Given the description of an element on the screen output the (x, y) to click on. 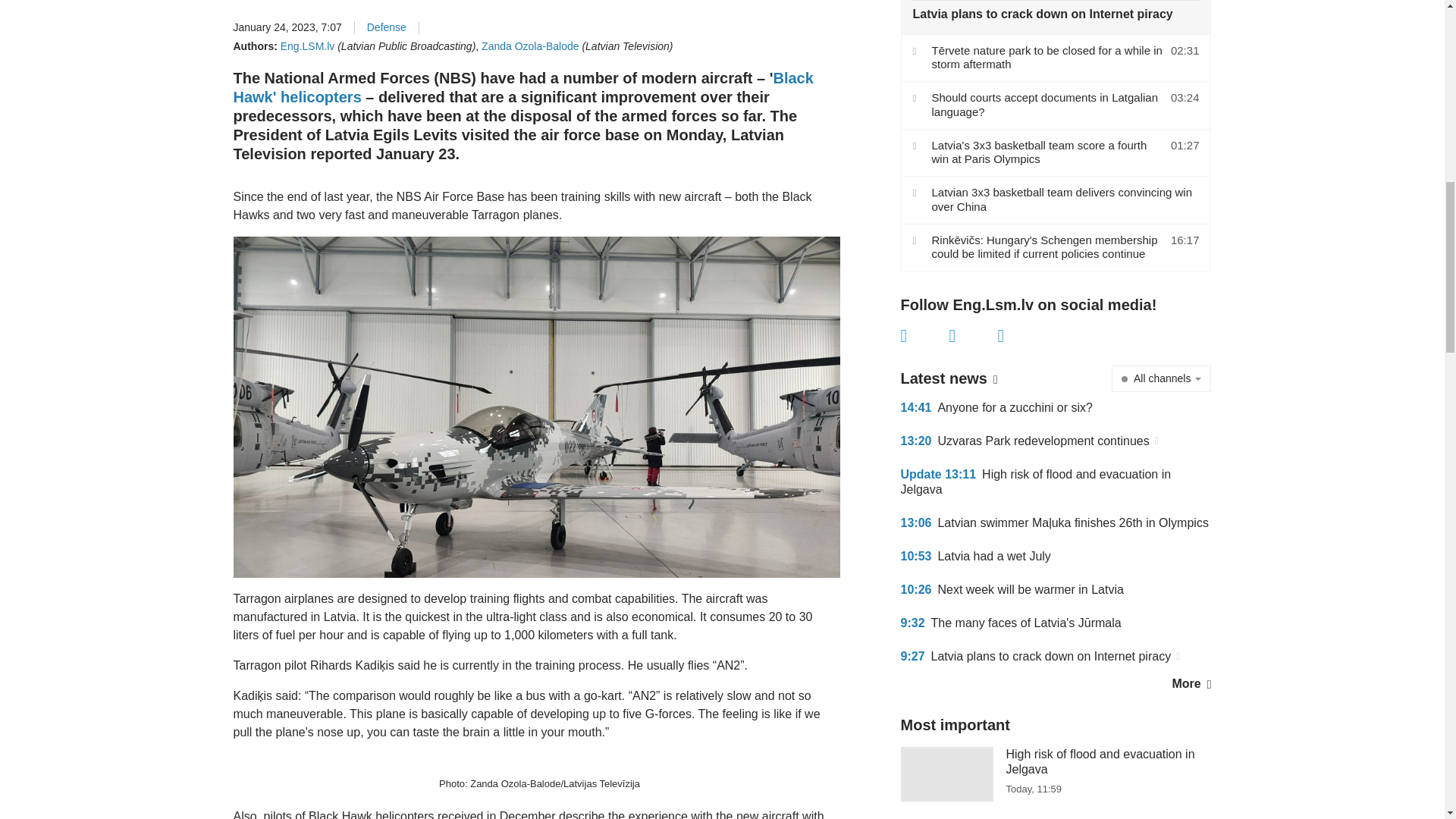
Linkedin (1021, 335)
Facebook (925, 335)
X (973, 335)
